Given the description of an element on the screen output the (x, y) to click on. 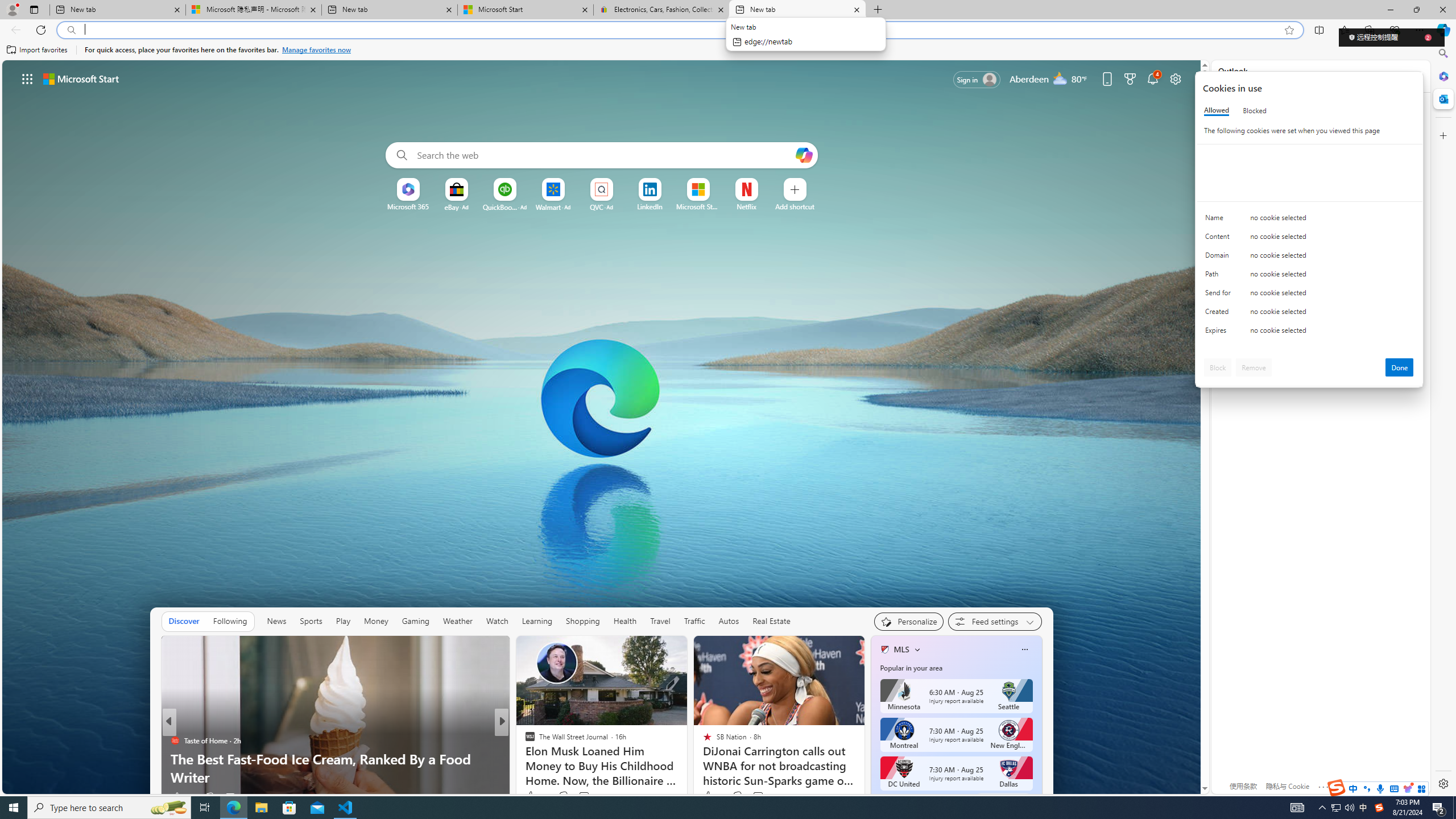
View comments 65 Comment (585, 796)
See more MLS (1003, 799)
Taste of Home (524, 740)
Path (1219, 276)
Search icon (70, 29)
Microsoft rewards (1129, 78)
MUO (524, 740)
View comments 29 Comment (231, 796)
